Given the description of an element on the screen output the (x, y) to click on. 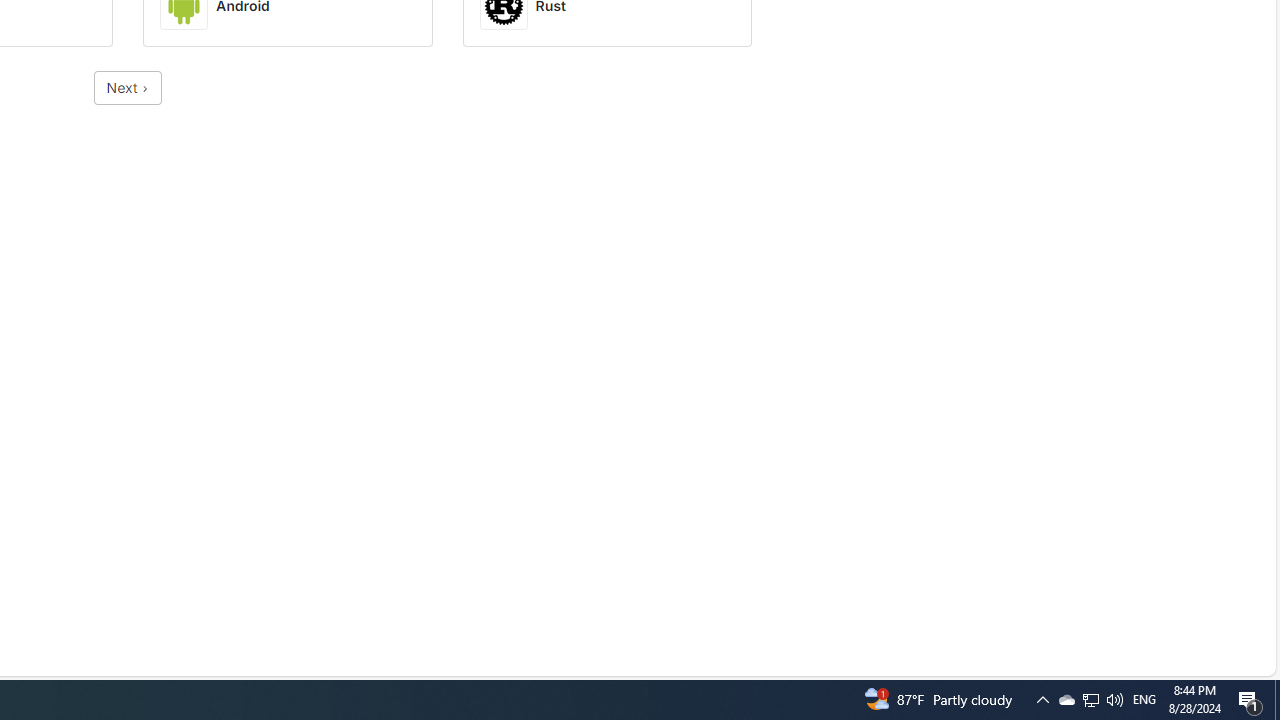
Next  (127, 88)
Class: s8 (144, 89)
Next  (127, 88)
